Given the description of an element on the screen output the (x, y) to click on. 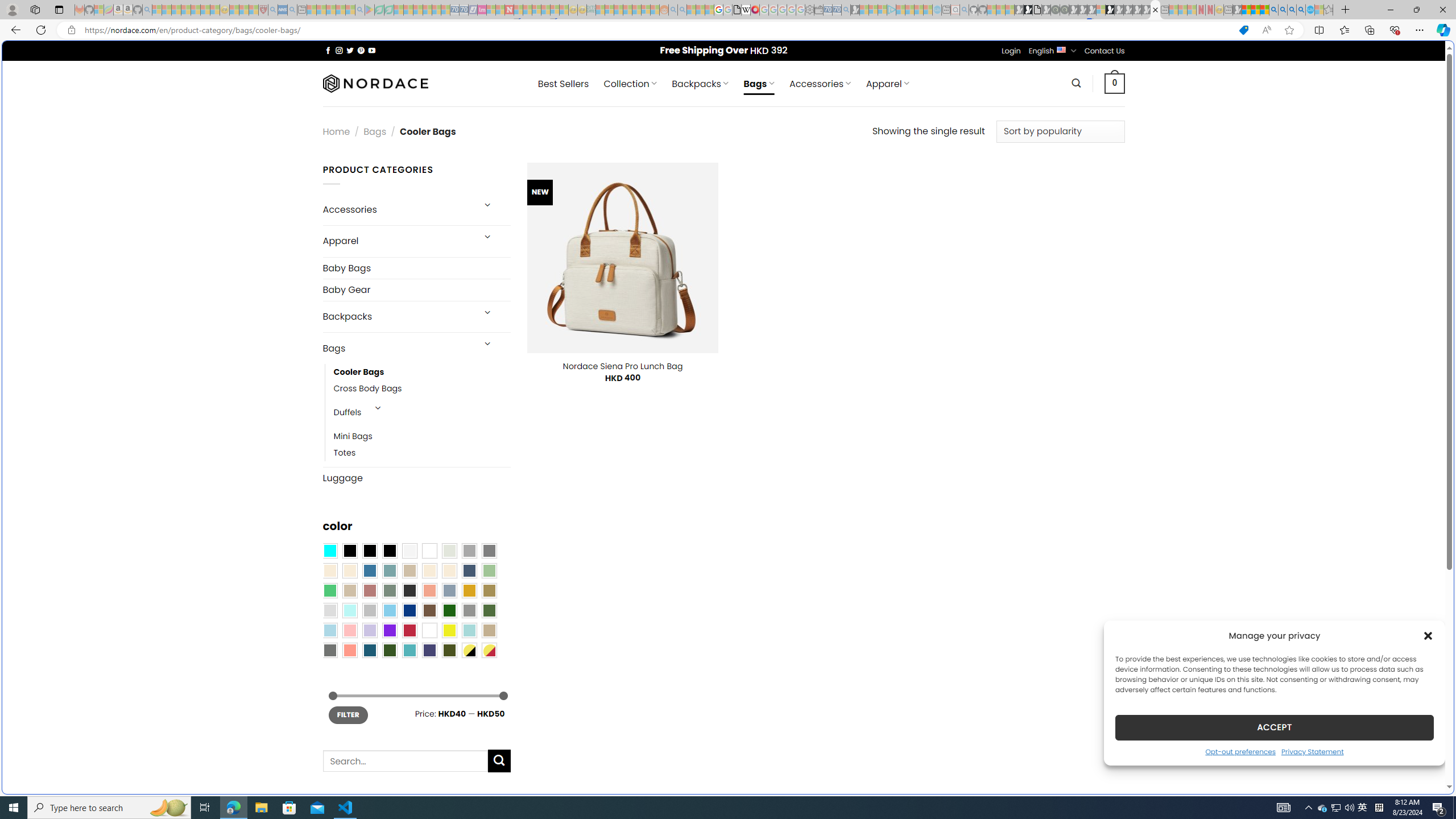
Class: cmplz-close (1428, 635)
Army Green (449, 649)
Navy Blue (408, 610)
Teal (408, 649)
